Given the description of an element on the screen output the (x, y) to click on. 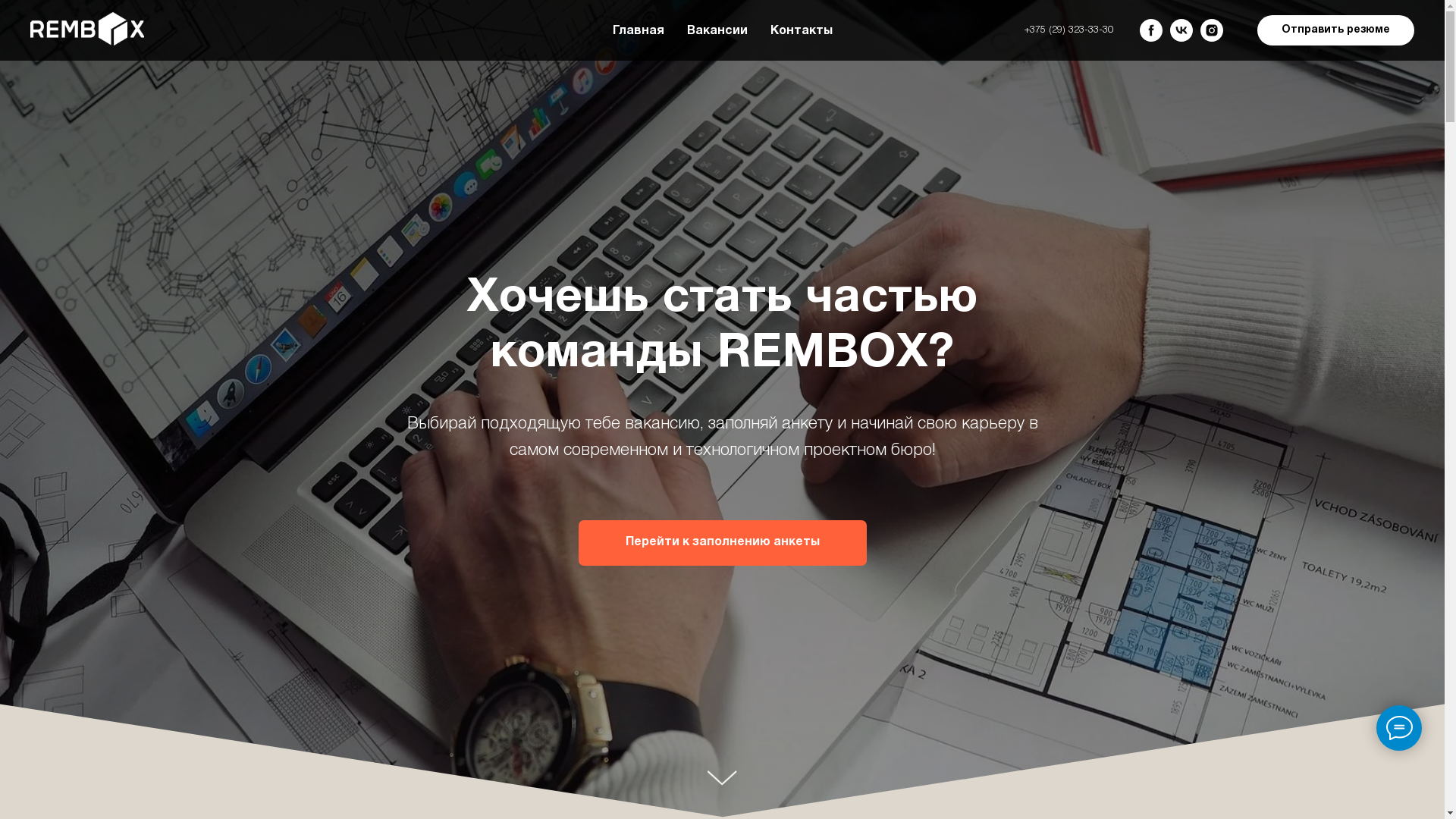
+375 (29) 323-33-30 Element type: text (1068, 29)
